Given the description of an element on the screen output the (x, y) to click on. 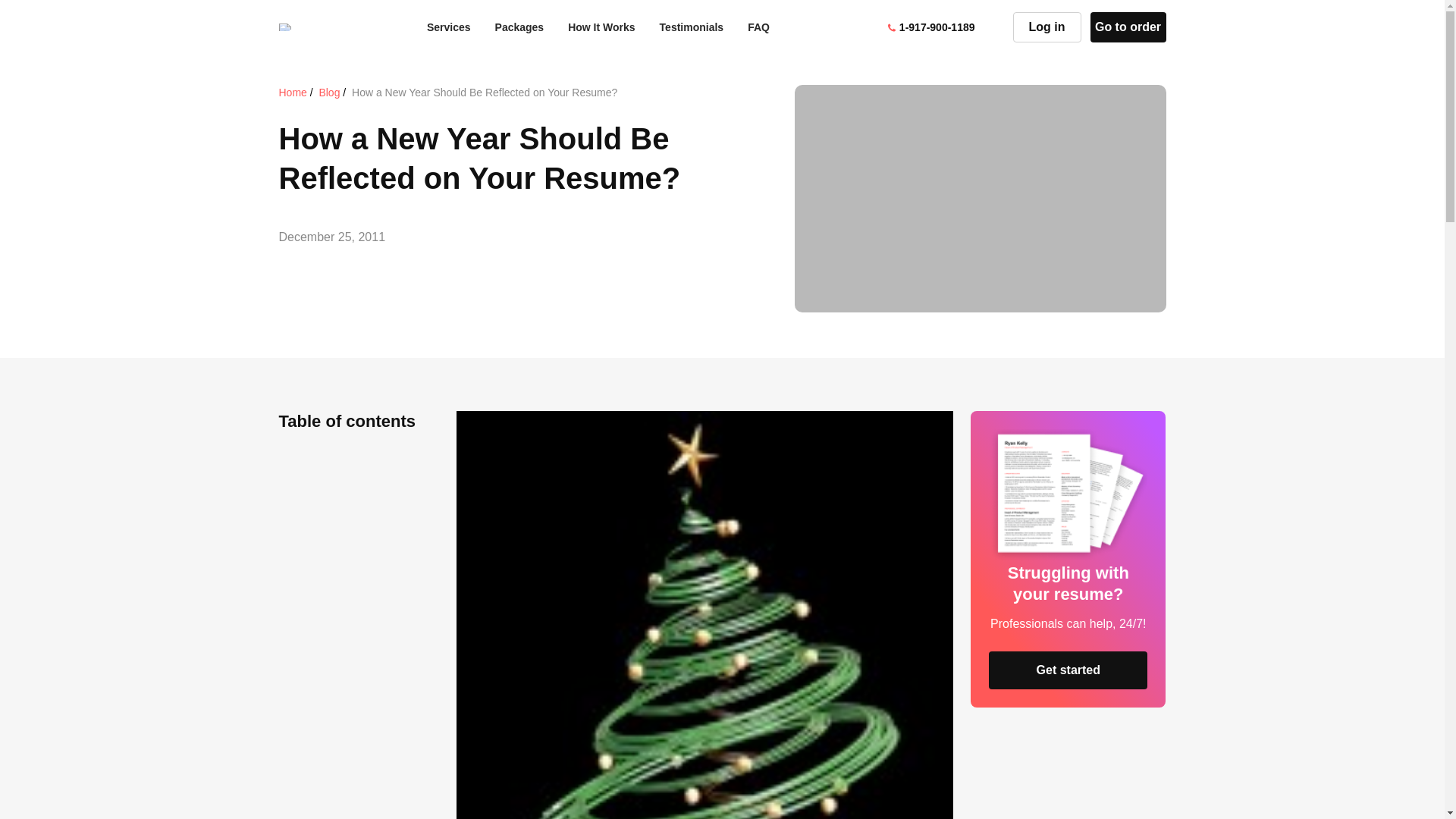
Go to order (1127, 26)
FAQ (759, 27)
Services (448, 27)
Packages (519, 27)
Testimonials (691, 27)
How It Works (600, 27)
Get started (1067, 670)
Blog (328, 92)
Home (293, 92)
